Given the description of an element on the screen output the (x, y) to click on. 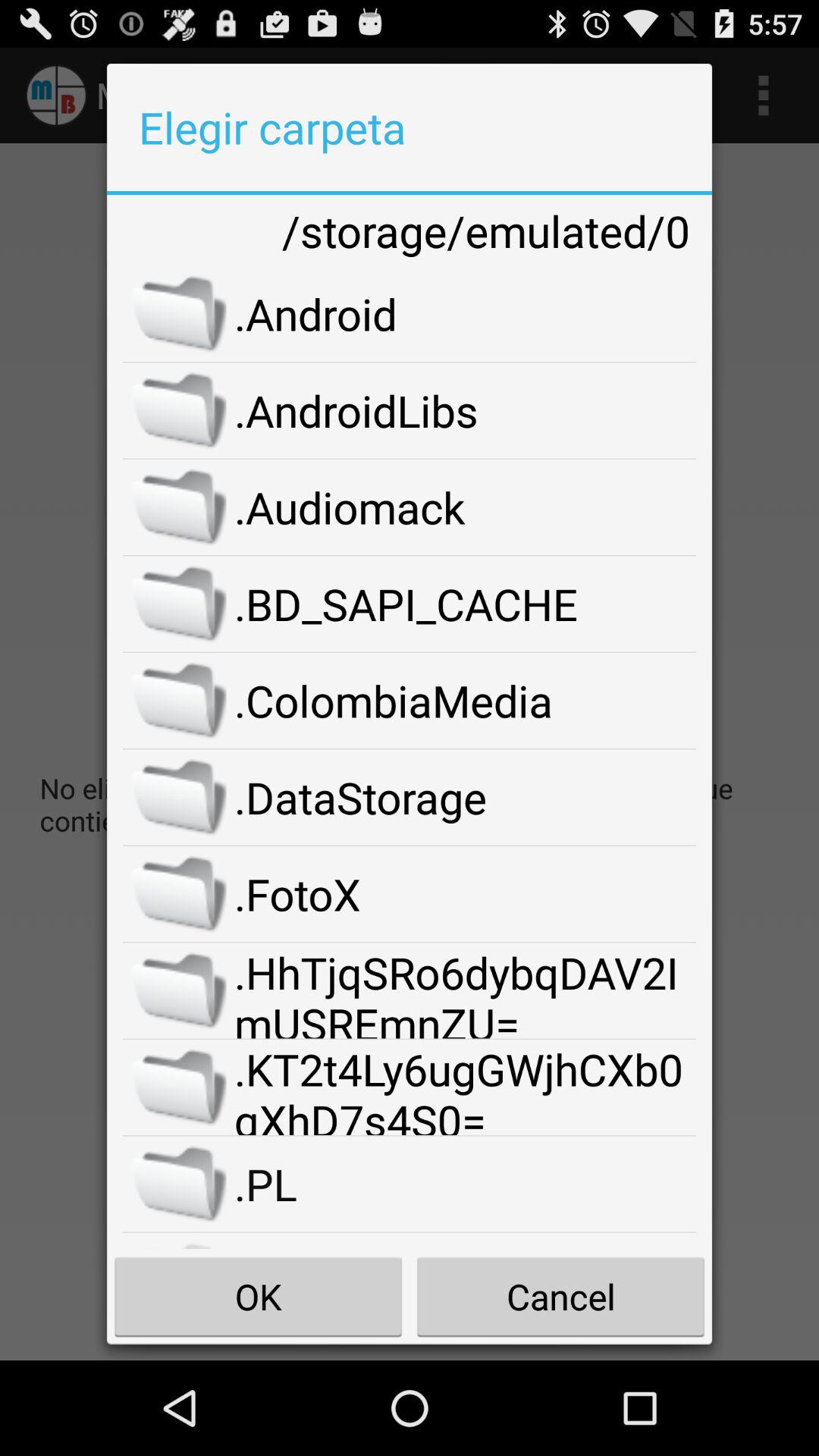
open the .android item (465, 313)
